Given the description of an element on the screen output the (x, y) to click on. 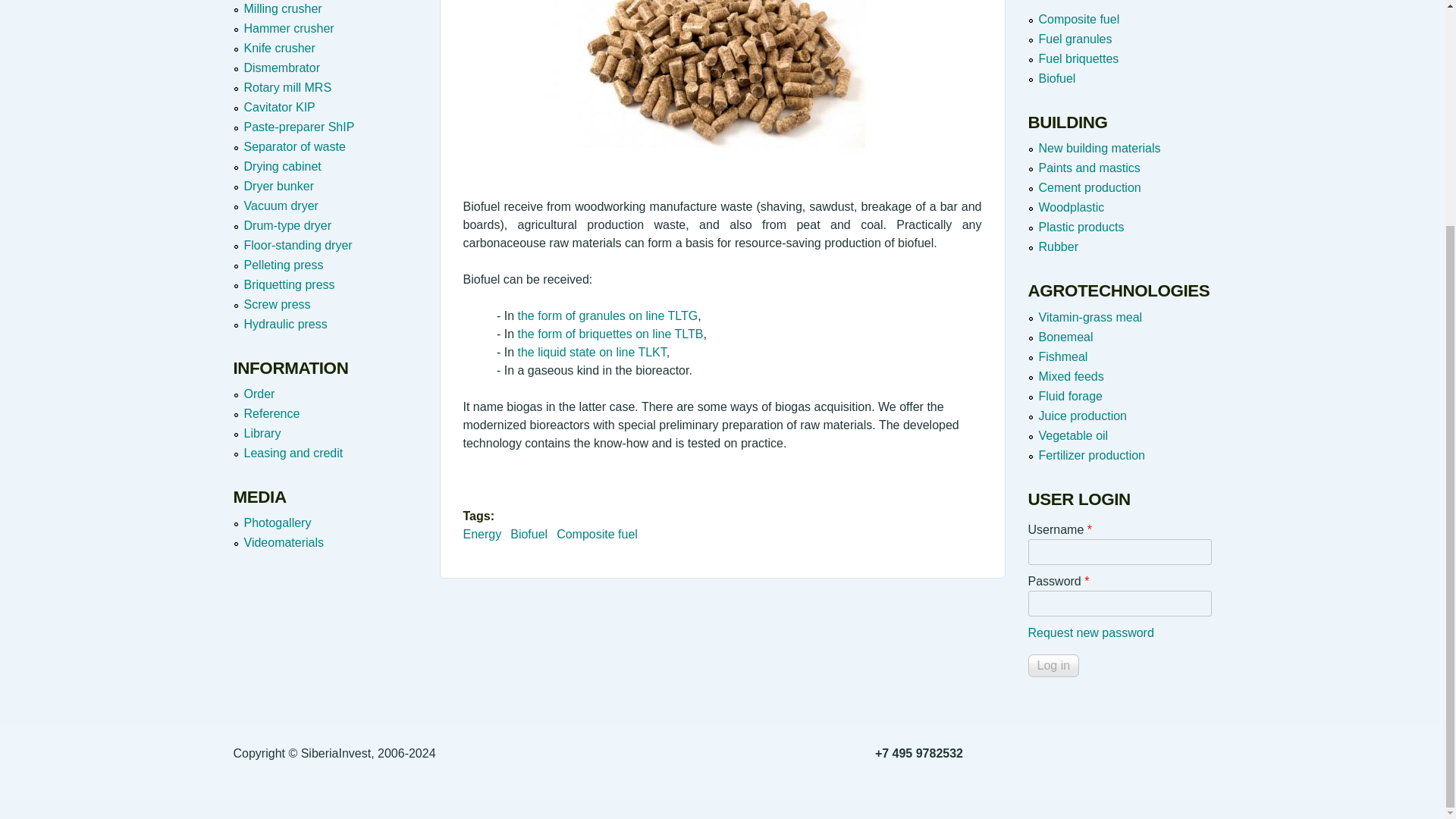
Separator of waste (295, 146)
Energy (481, 533)
Knife crusher (279, 47)
Vacuum dryer (281, 205)
Log in (1053, 665)
Composite fuel (596, 533)
Rotary mill MRS (287, 87)
Drying cabinet (282, 165)
the liquid state on line TLKT (592, 351)
Paste-preparer ShIP (299, 126)
the form of briquettes on line TLTB (610, 333)
Hammer crusher (289, 28)
Dismembrator (282, 67)
Milling crusher (282, 8)
Technological line of biofuel production TLBT (722, 95)
